Given the description of an element on the screen output the (x, y) to click on. 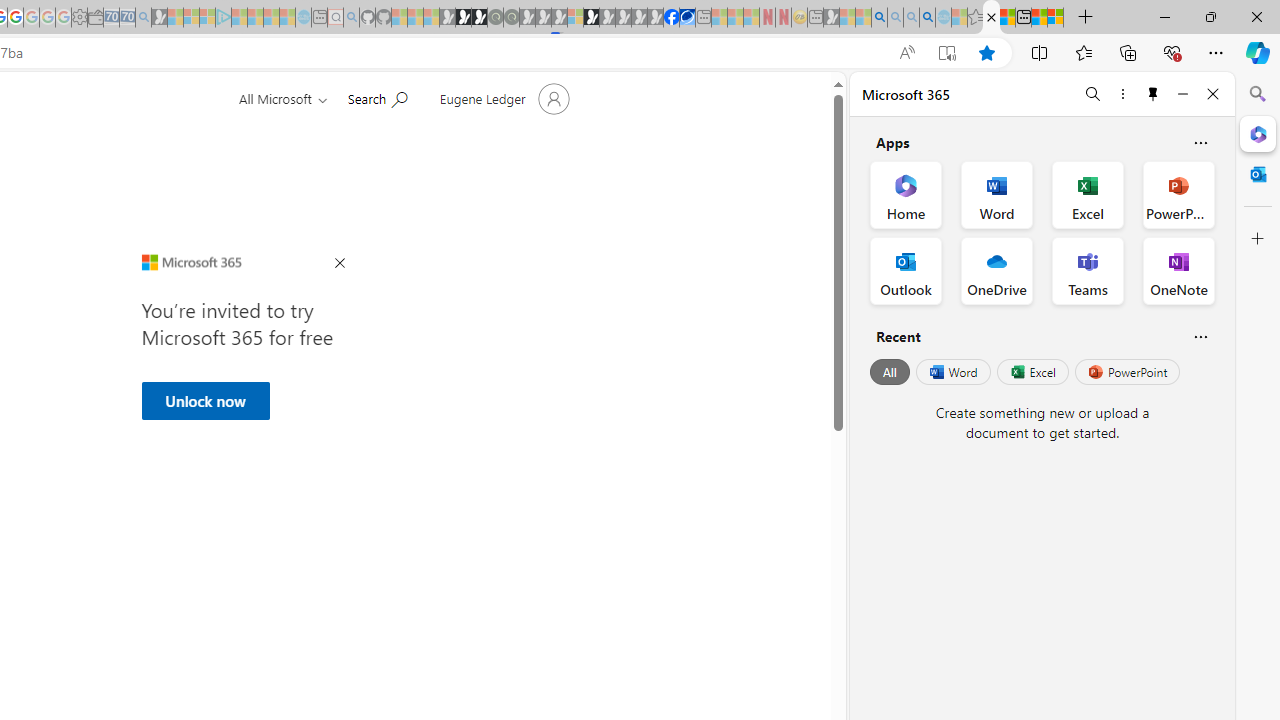
Unlock now (205, 399)
Close Microsoft 365 pane (1258, 133)
Favorites - Sleeping (975, 17)
PowerPoint (1127, 372)
Account manager for Eugene Ledger (502, 98)
PowerPoint Office App (1178, 194)
